Given the description of an element on the screen output the (x, y) to click on. 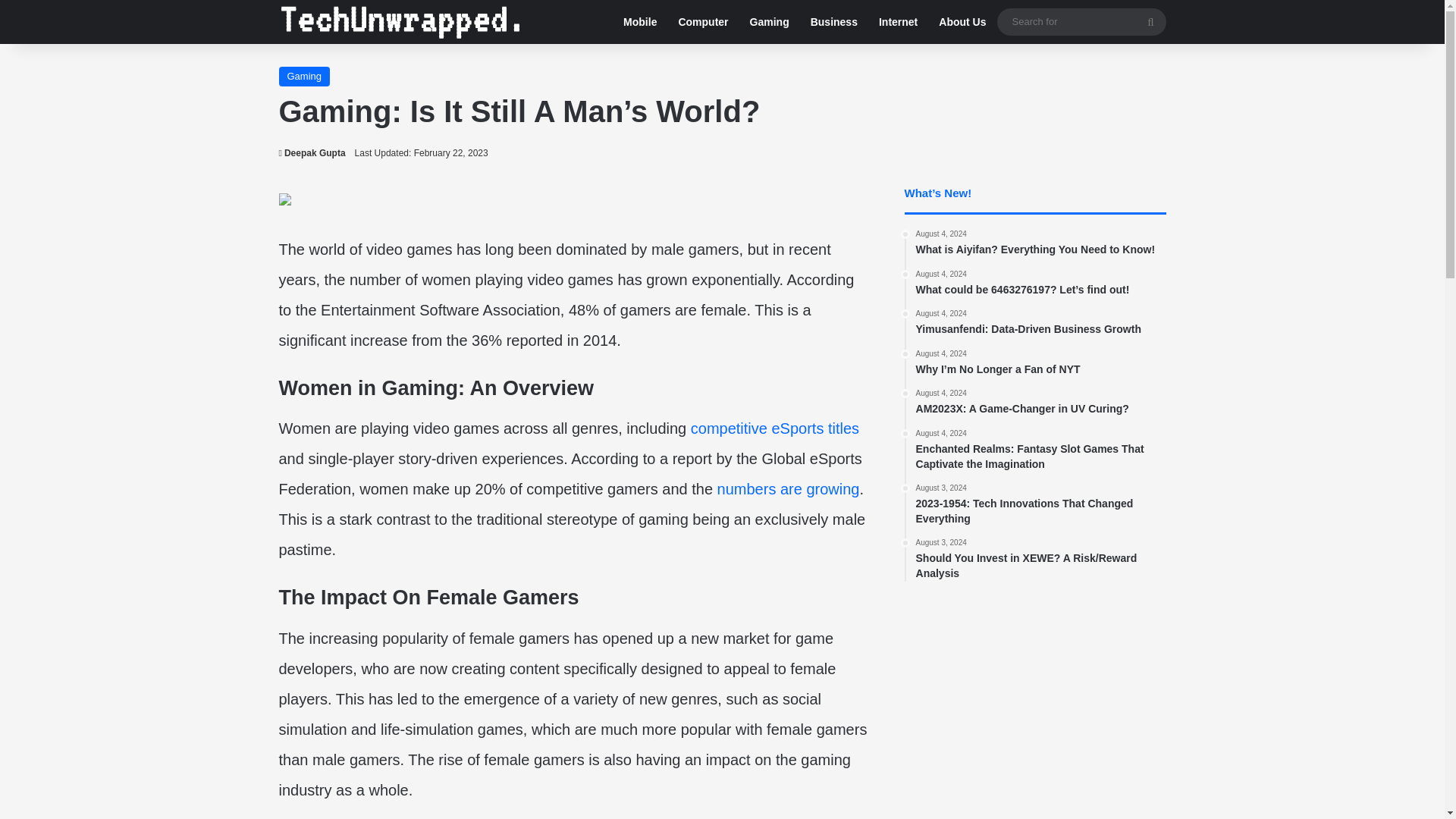
Gaming (1040, 402)
Deepak Gupta (1040, 243)
Gaming (1040, 323)
TechUnwrapped (304, 76)
competitive eSports titles (312, 153)
Search for (769, 22)
Mobile (400, 22)
numbers are growing (774, 428)
Business (1080, 21)
Internet (639, 22)
